Given the description of an element on the screen output the (x, y) to click on. 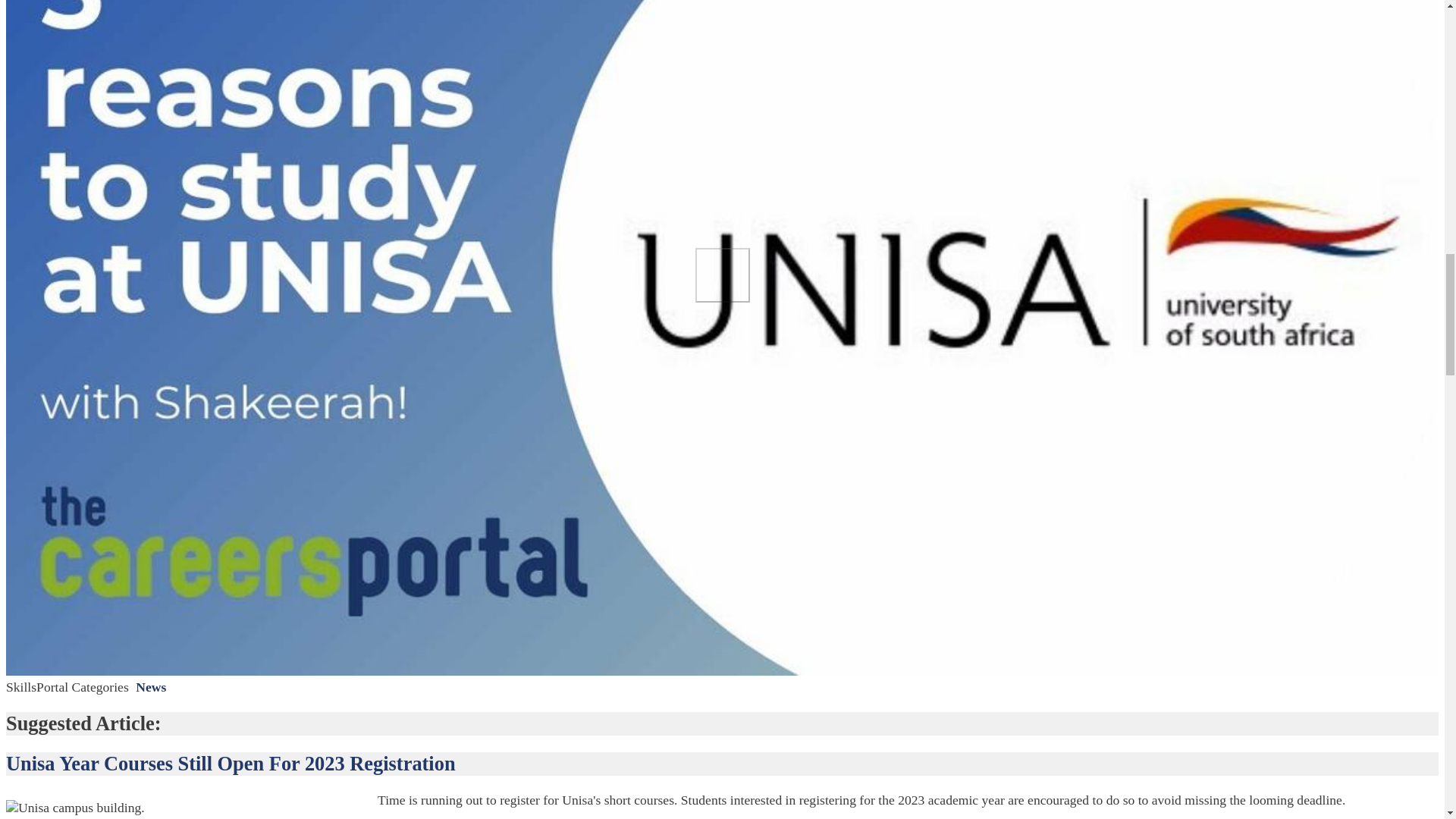
Unisa Login (22, 726)
Unisa Year Courses Still Open For 2023 Registration (230, 763)
News (150, 686)
